Given the description of an element on the screen output the (x, y) to click on. 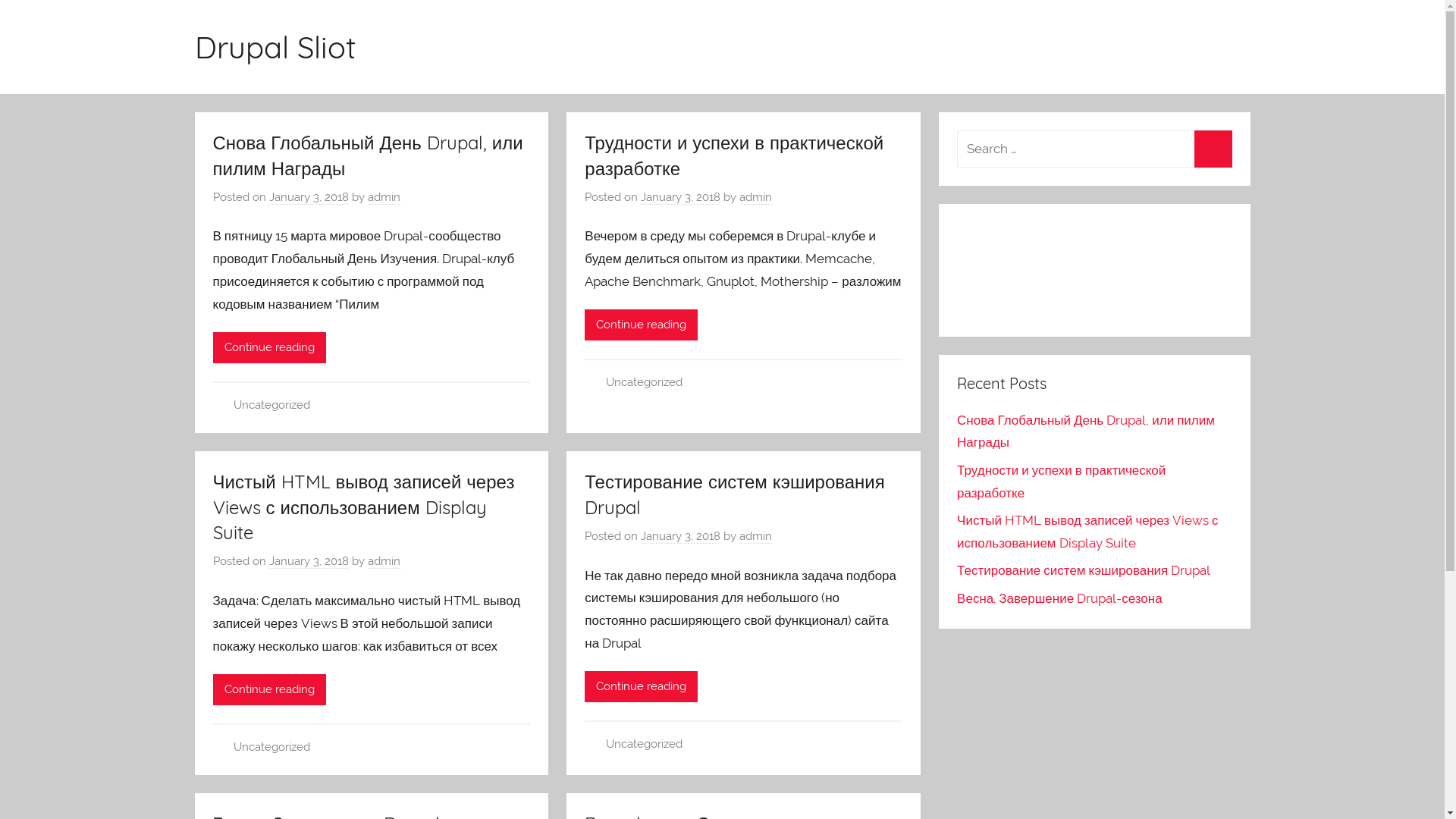
January 3, 2018 Element type: text (680, 536)
admin Element type: text (755, 197)
Continue reading Element type: text (268, 347)
Uncategorized Element type: text (271, 404)
Continue reading Element type: text (640, 686)
January 3, 2018 Element type: text (308, 561)
Drupal Sliot Element type: text (274, 46)
Uncategorized Element type: text (643, 382)
Uncategorized Element type: text (271, 746)
Skip to content Element type: text (0, 0)
Search for: Element type: hover (1094, 148)
January 3, 2018 Element type: text (680, 197)
Uncategorized Element type: text (643, 743)
January 3, 2018 Element type: text (308, 197)
admin Element type: text (383, 197)
Continue reading Element type: text (640, 324)
admin Element type: text (755, 536)
Continue reading Element type: text (268, 689)
admin Element type: text (383, 561)
